Given the description of an element on the screen output the (x, y) to click on. 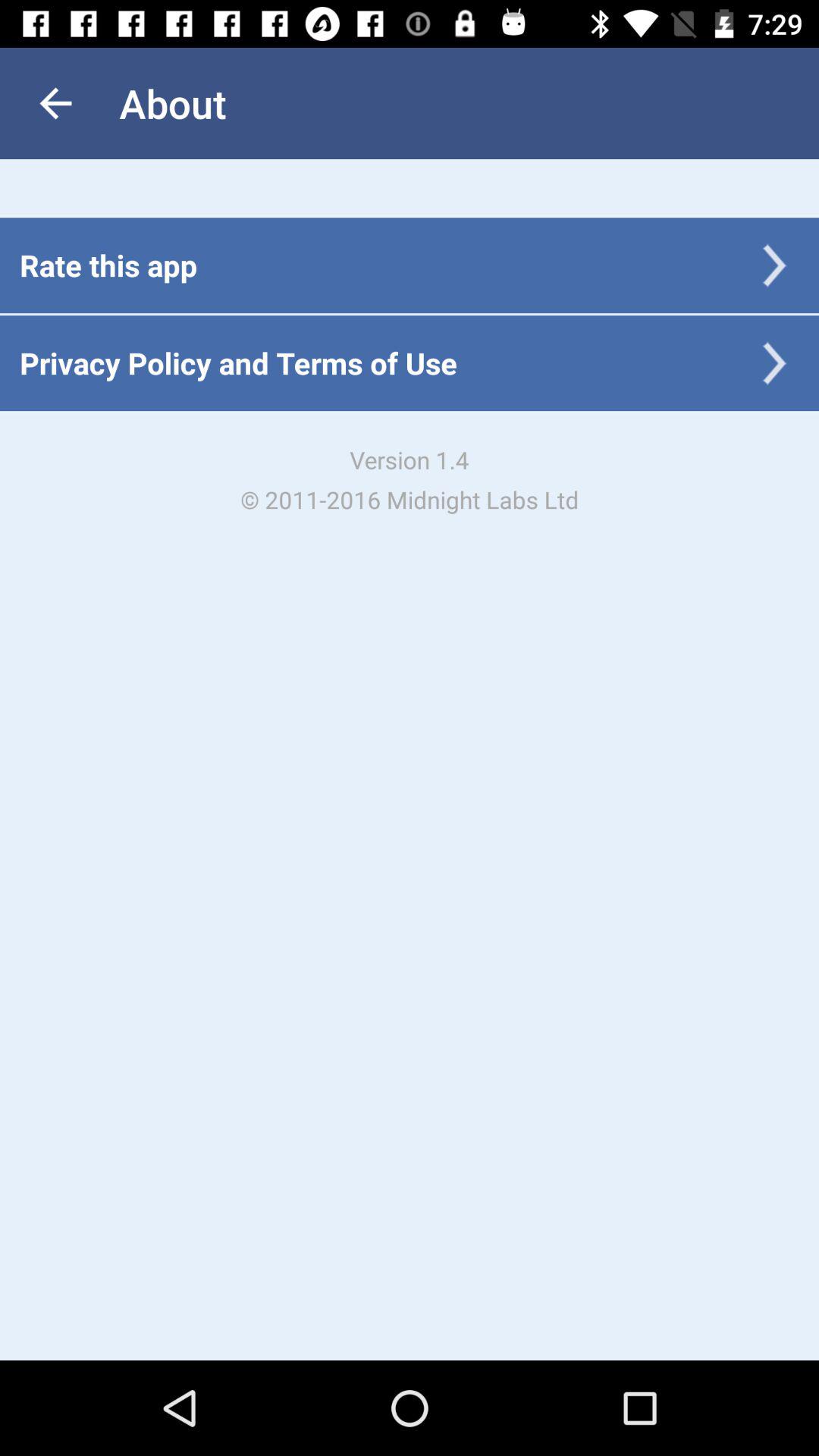
turn off item to the left of about (55, 103)
